Given the description of an element on the screen output the (x, y) to click on. 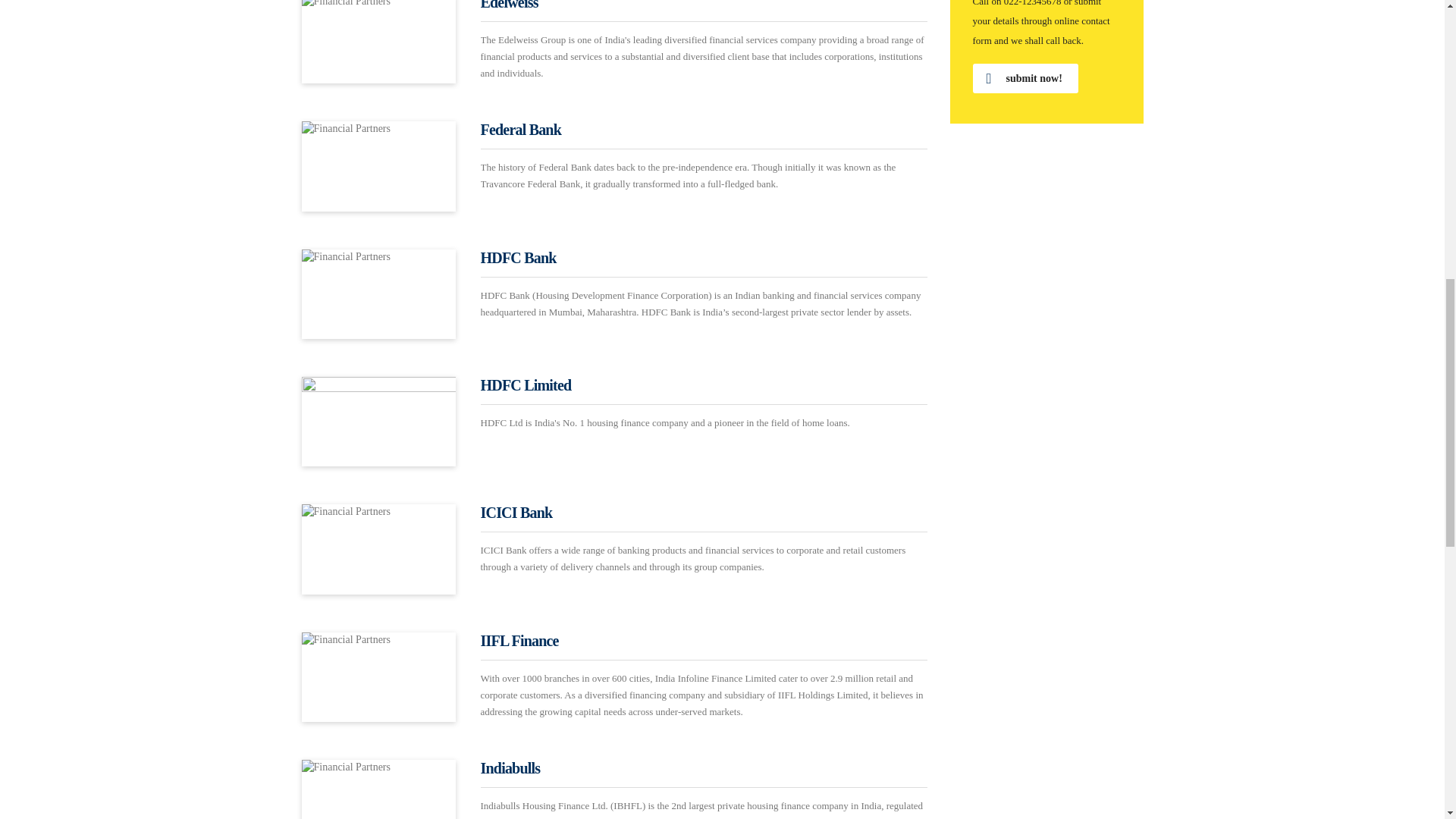
ICICI Bank (516, 512)
HDFC Bank (518, 257)
Edelweiss (509, 5)
IIFL Finance (519, 640)
HDFC Limited (526, 384)
Federal Bank (521, 129)
Indiabulls (510, 768)
